Given the description of an element on the screen output the (x, y) to click on. 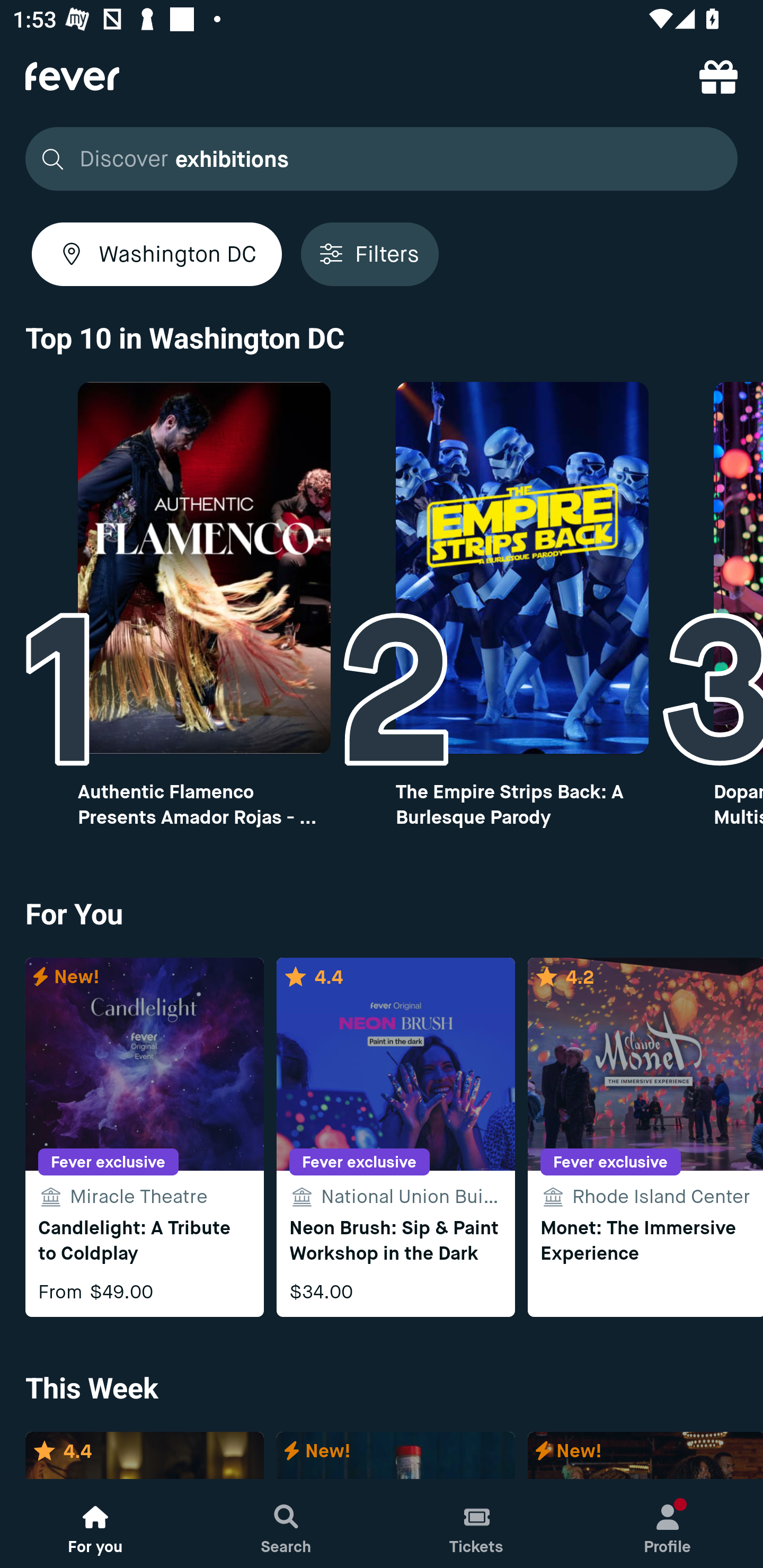
referral (718, 75)
Discover candlelight exhibitions (381, 158)
Discover candlelight exhibitions (376, 158)
Washington DC (156, 253)
Filters (369, 253)
Top10 image (203, 568)
Top10 image (521, 568)
Search (285, 1523)
Tickets (476, 1523)
Profile, New notification Profile (667, 1523)
